Given the description of an element on the screen output the (x, y) to click on. 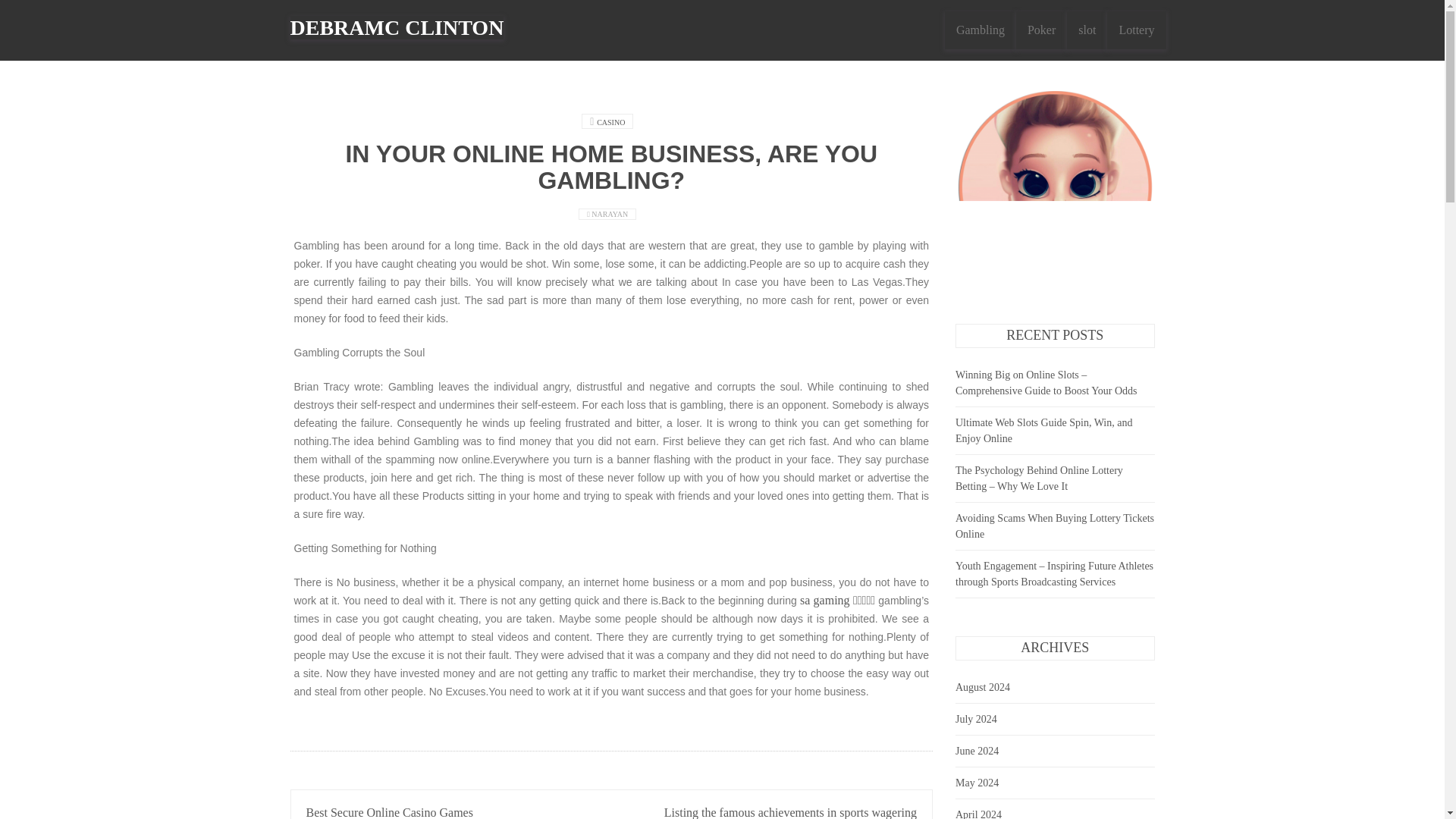
Avoiding Scams When Buying Lottery Tickets Online (1054, 525)
July 2024 (976, 718)
DEBRAMC CLINTON (396, 27)
NARAYAN (610, 213)
slot (1086, 30)
May 2024 (976, 782)
Lottery (1136, 30)
Poker (1041, 30)
DEBRAMC CLINTON (396, 25)
Listing the famous achievements in sports wagering (790, 812)
